Given the description of an element on the screen output the (x, y) to click on. 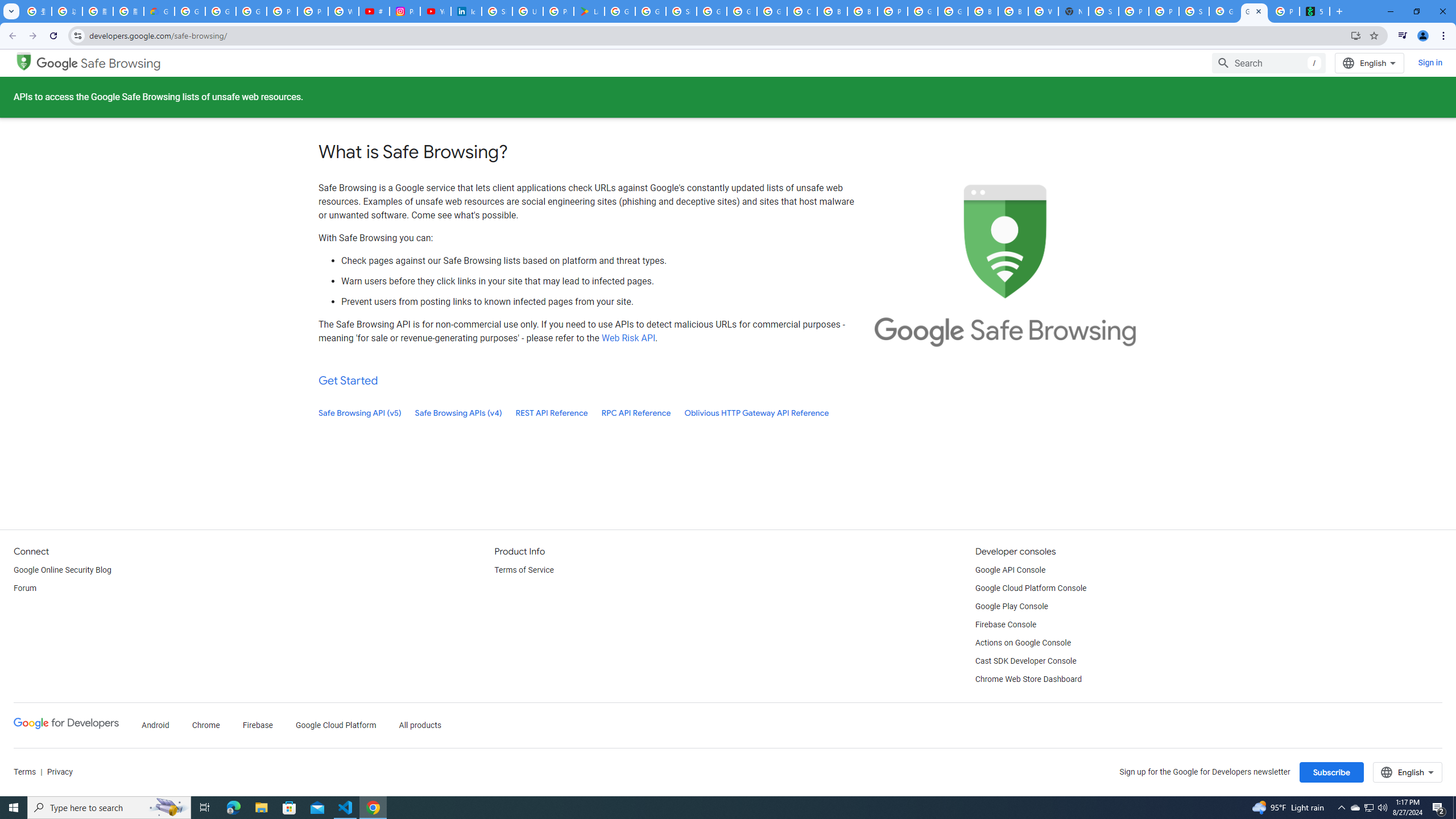
Get Started (348, 380)
Google Play Console (1011, 606)
All products (420, 725)
Google Safe Browsing (98, 63)
Google API Console (1010, 570)
Google Cloud Platform (741, 11)
Firebase Console (1005, 624)
Safe Browsing API (v5) (360, 412)
Search (1268, 63)
REST API Reference (551, 412)
